Given the description of an element on the screen output the (x, y) to click on. 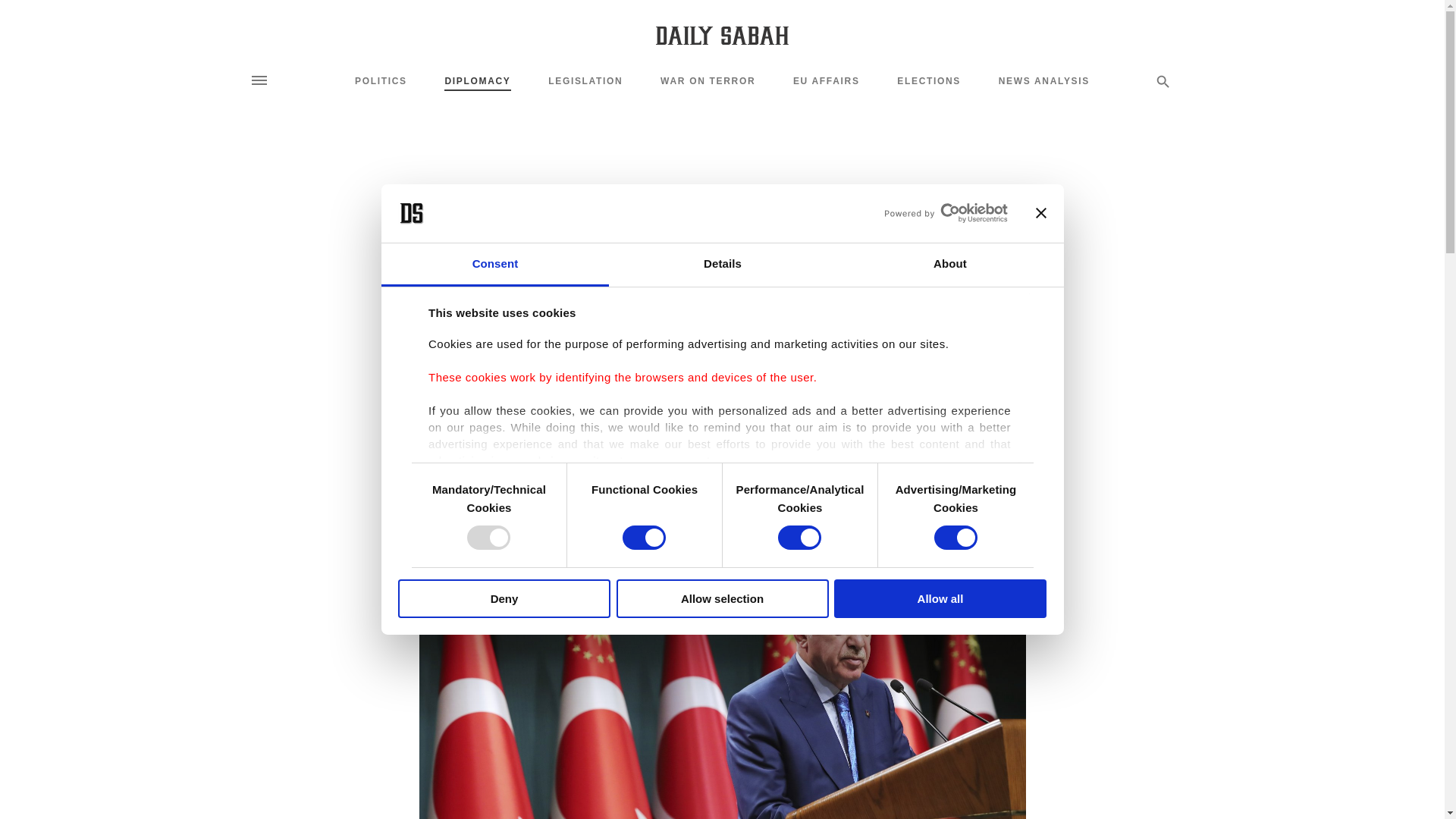
Cookie Information Text (909, 610)
About (948, 264)
Consent (494, 264)
Details (721, 264)
